Given the description of an element on the screen output the (x, y) to click on. 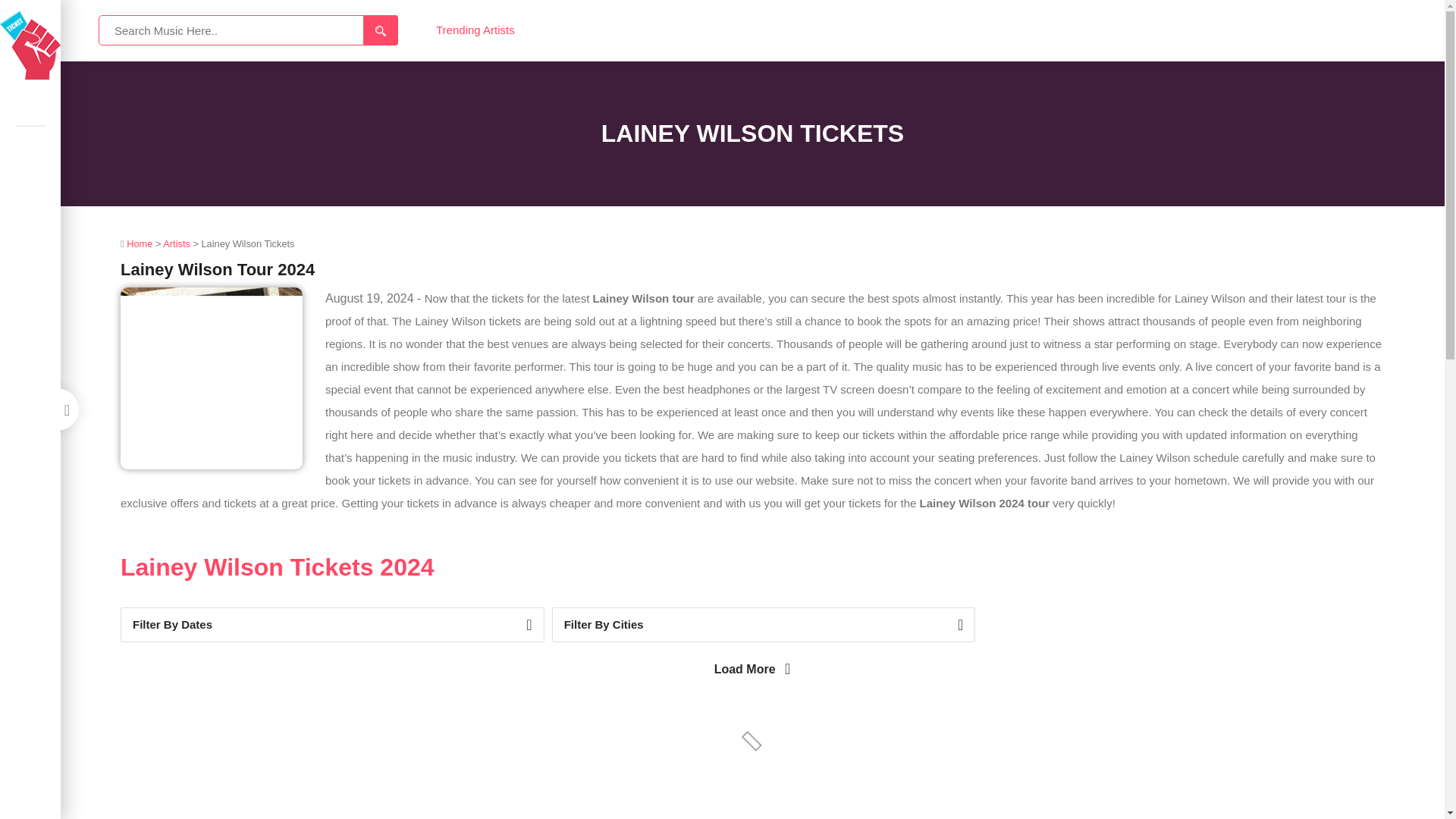
TOP Artists (30, 142)
Search Music Here.. (248, 30)
Load More (752, 668)
Trending Artists (475, 29)
Artists (176, 243)
Home (137, 243)
Cities (763, 624)
Go to Concerts Tour. (137, 243)
Dates (332, 624)
Home (30, 110)
